Given the description of an element on the screen output the (x, y) to click on. 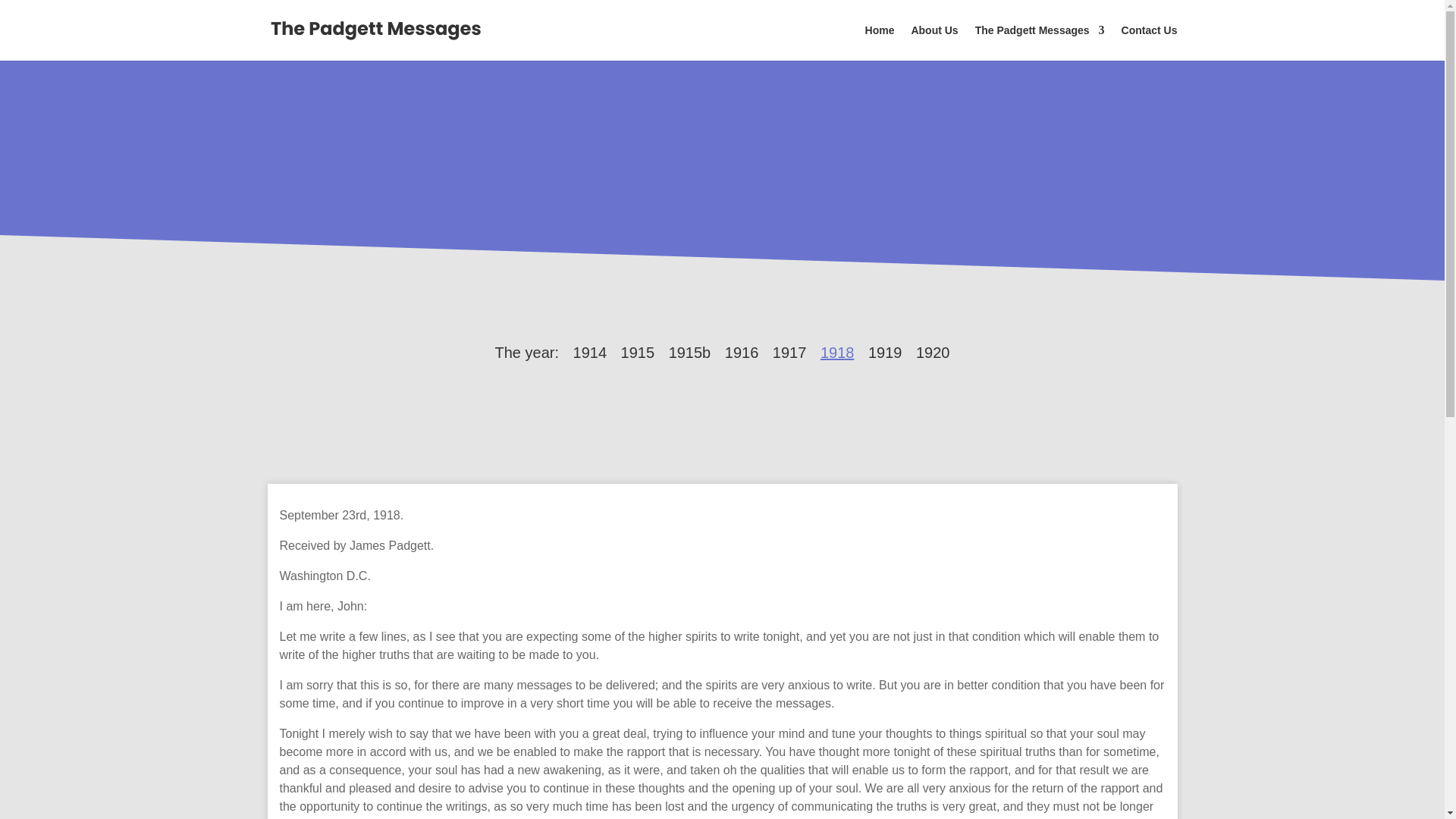
1918 (837, 352)
1915b (689, 352)
1919 (884, 352)
1916 (741, 352)
The Padgett Messages (1040, 42)
1917 (789, 352)
1915 (638, 352)
About Us (934, 42)
Contact Us (1149, 42)
1920 (932, 352)
